Given the description of an element on the screen output the (x, y) to click on. 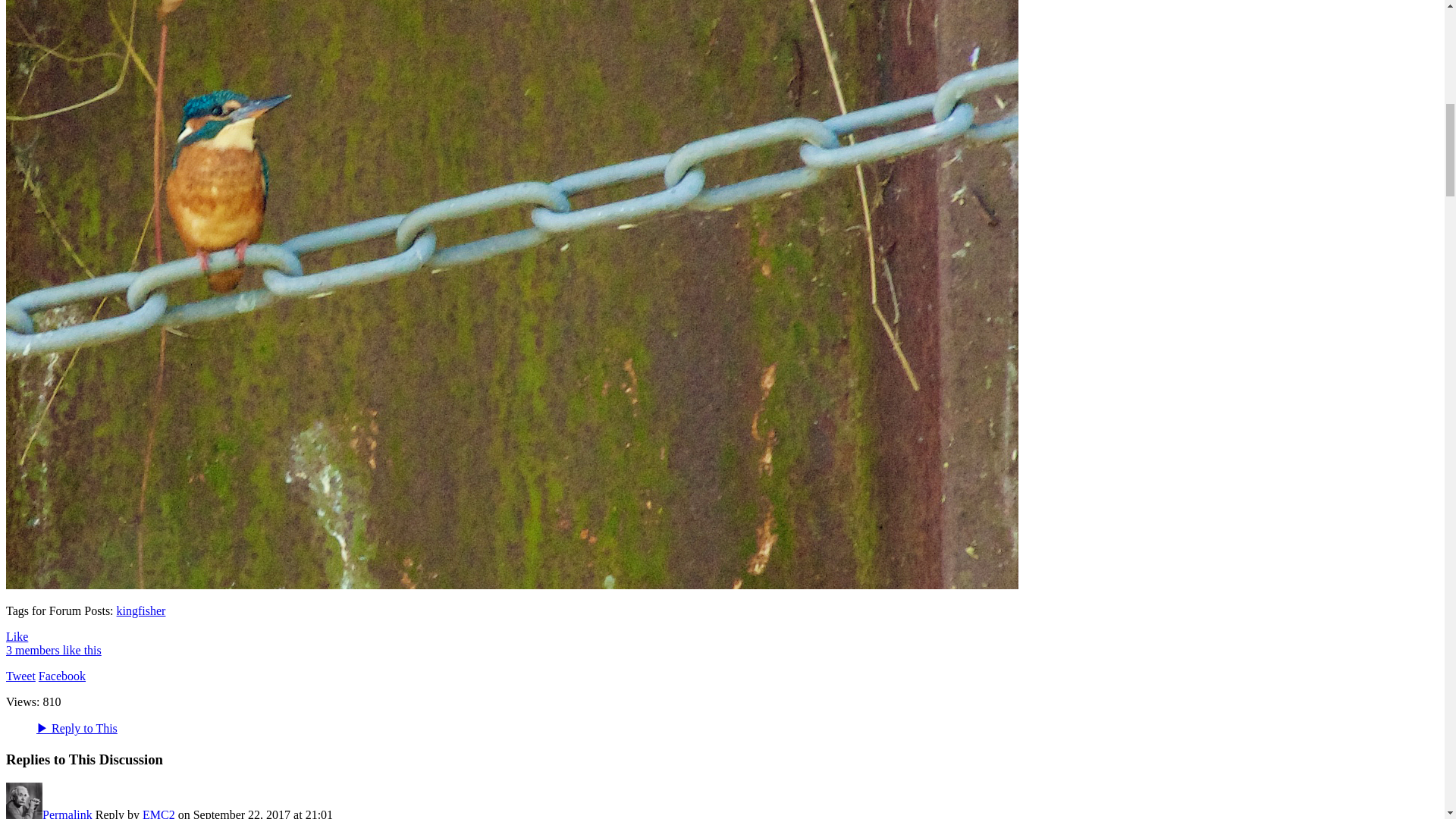
EMC2 (23, 813)
Permalink to this Reply (67, 813)
